Given the description of an element on the screen output the (x, y) to click on. 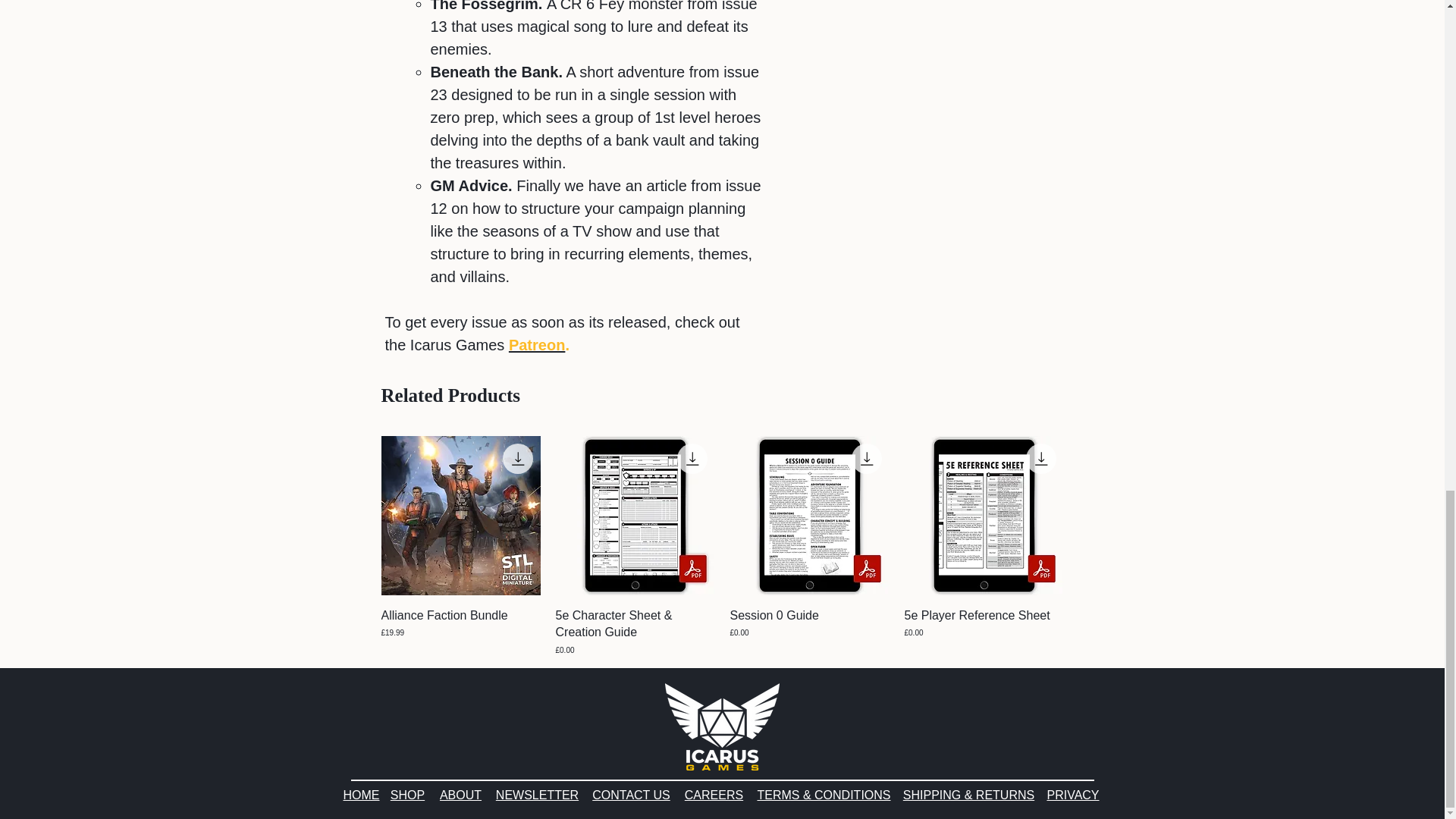
Patreon (536, 344)
